Given the description of an element on the screen output the (x, y) to click on. 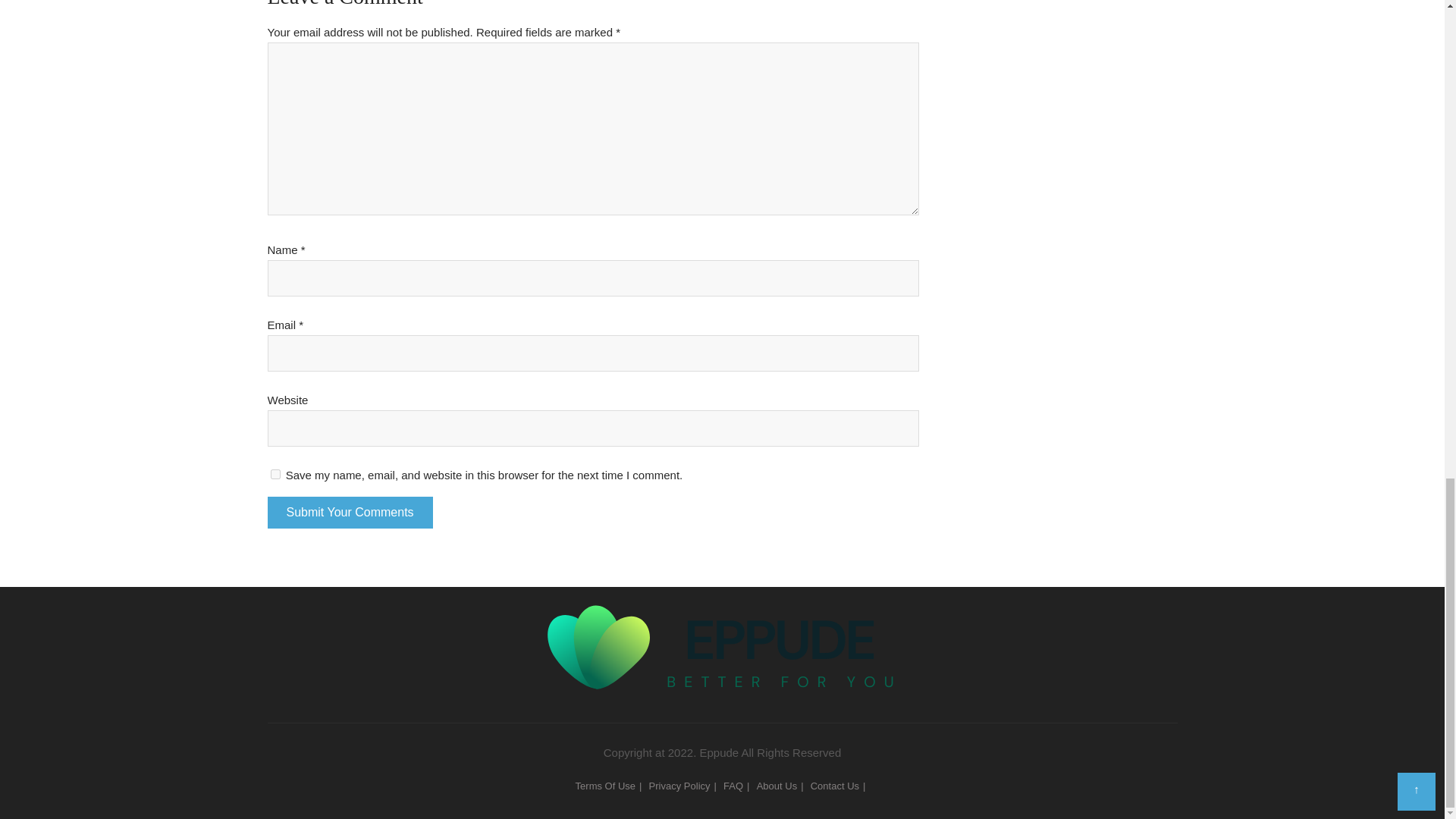
Submit Your Comments (349, 512)
Eppude (721, 621)
yes (274, 474)
Submit Your Comments (349, 512)
